Given the description of an element on the screen output the (x, y) to click on. 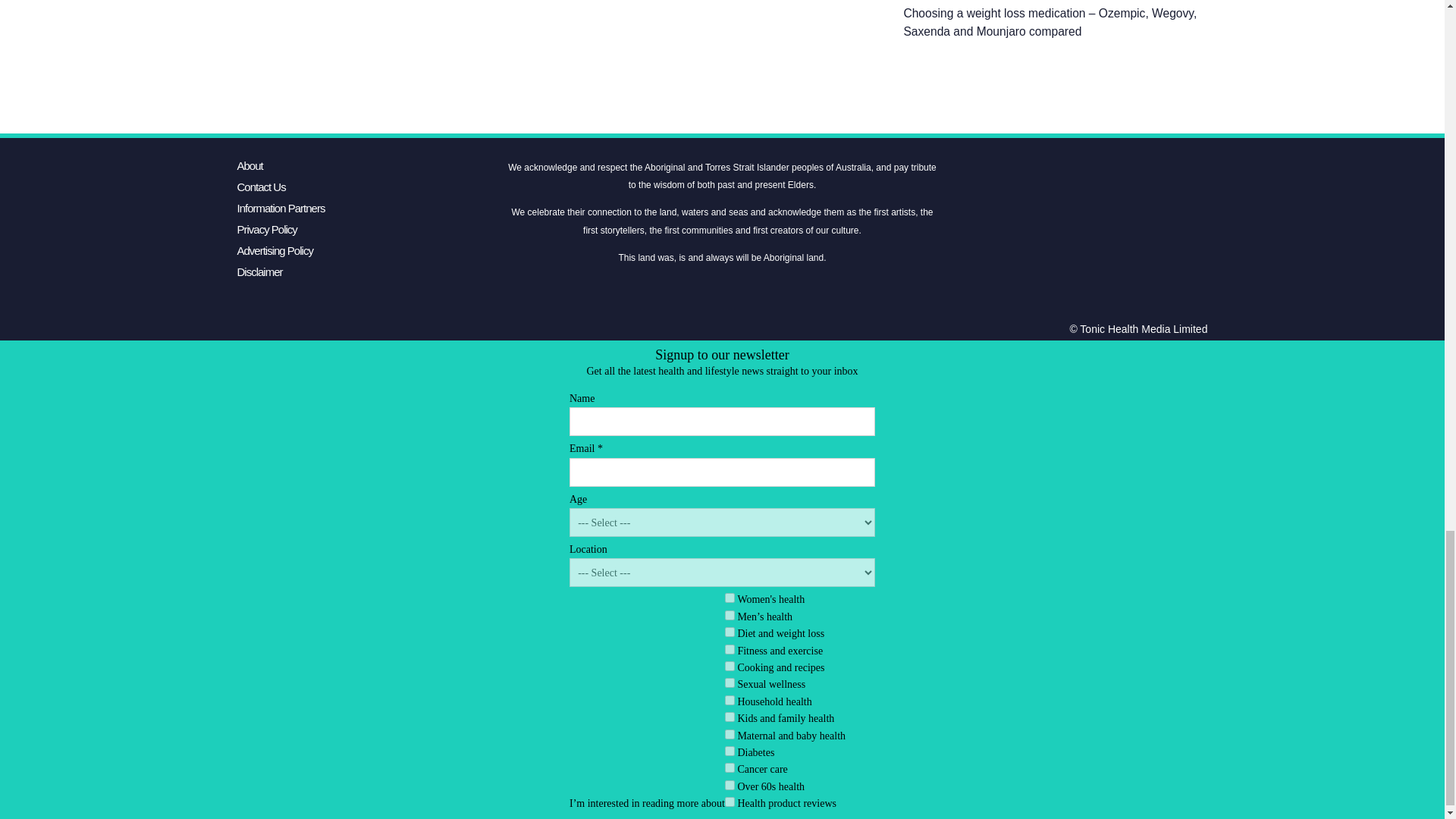
Women's health (730, 597)
Cancer care (730, 767)
Over 60s health (730, 785)
About Our Information Partners (279, 207)
Health product reviews (730, 801)
Diabetes (730, 750)
Maternal and baby health (730, 734)
Kids and family health (730, 716)
Cooking and recipes (730, 665)
Fitness and exercise (730, 649)
